Given the description of an element on the screen output the (x, y) to click on. 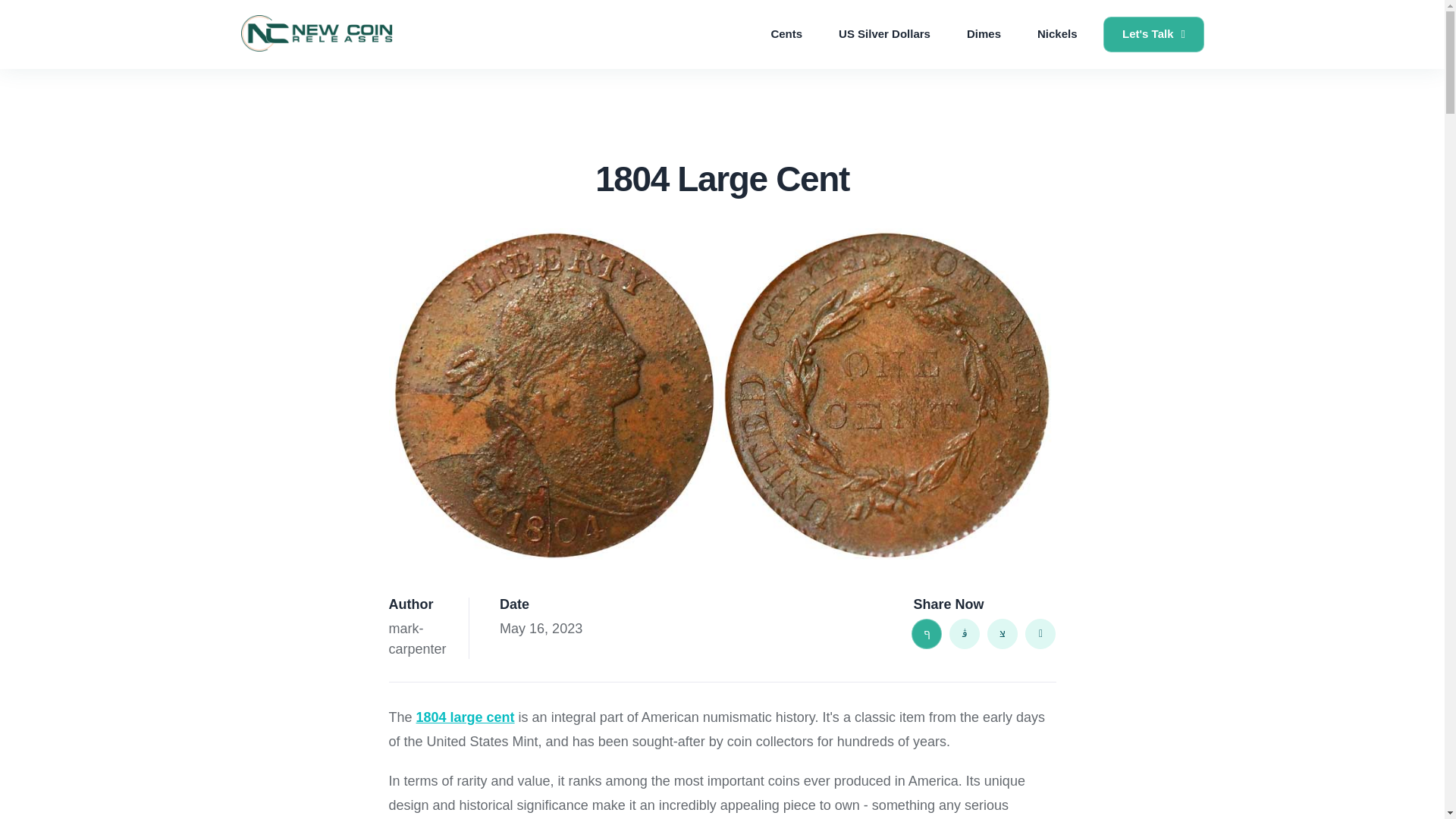
Dimes (984, 34)
1804 large cent (465, 717)
Let's Talk (1153, 34)
US Silver Dollars (884, 34)
Nickels (1056, 34)
Cents (785, 34)
